Given the description of an element on the screen output the (x, y) to click on. 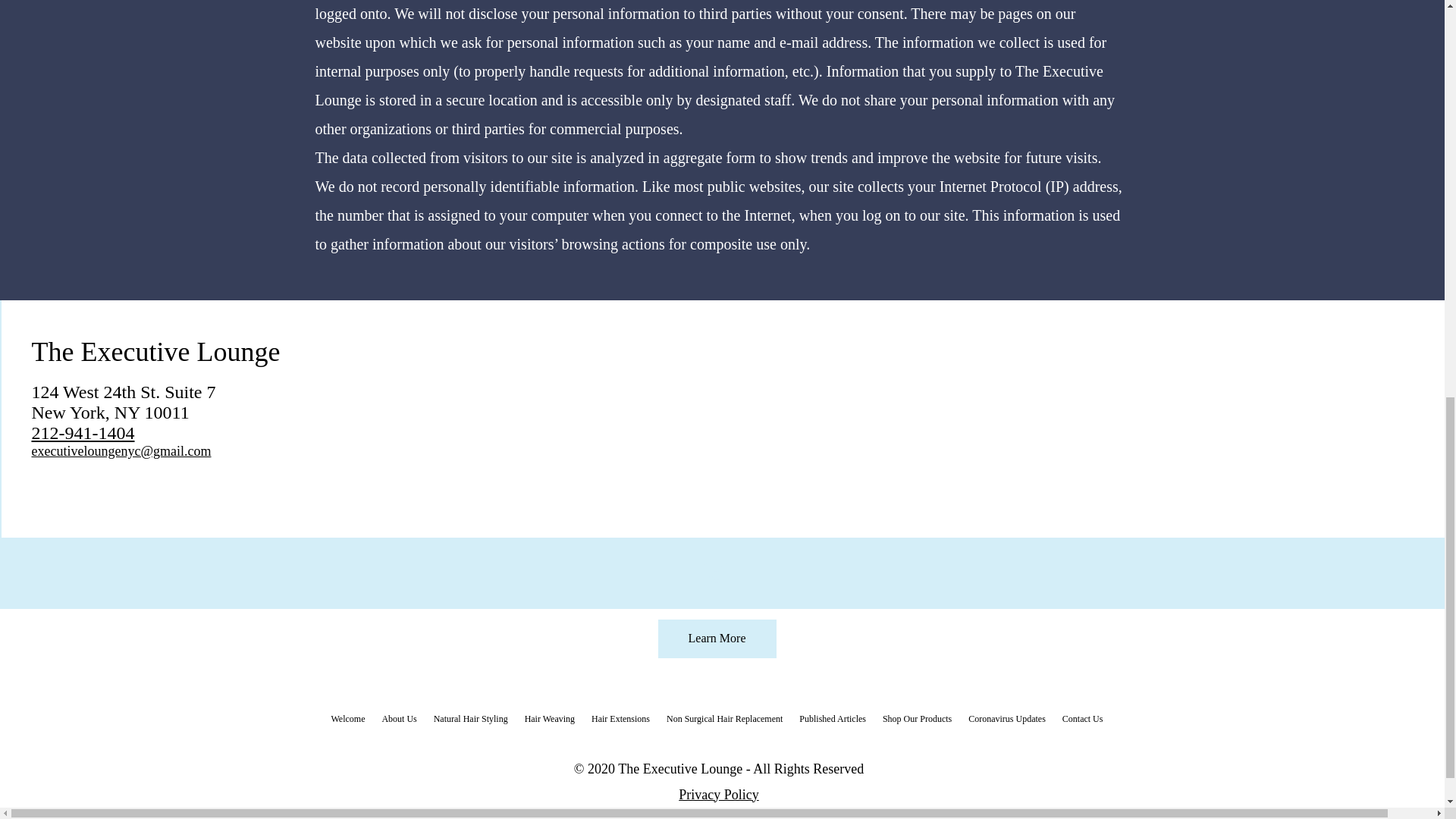
Non Surgical Hair Replacement (724, 718)
212-941-1404 (83, 433)
Welcome (348, 718)
Shop Our Products (917, 718)
Natural Hair Styling (470, 718)
Hair Extensions (620, 718)
Published Articles (832, 718)
Contact Us (1083, 718)
Coronavirus Updates (1006, 718)
Learn More (717, 638)
